Given the description of an element on the screen output the (x, y) to click on. 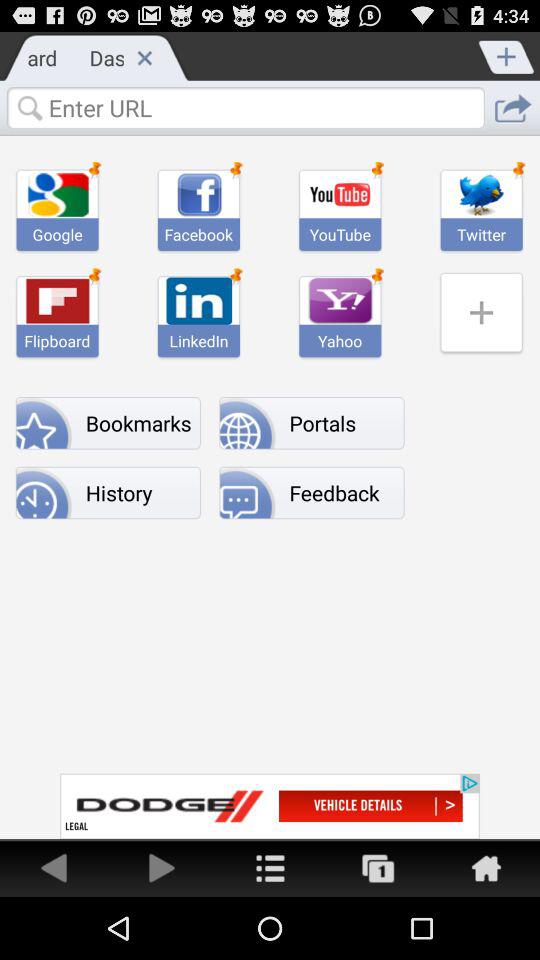
advertising (270, 806)
